Given the description of an element on the screen output the (x, y) to click on. 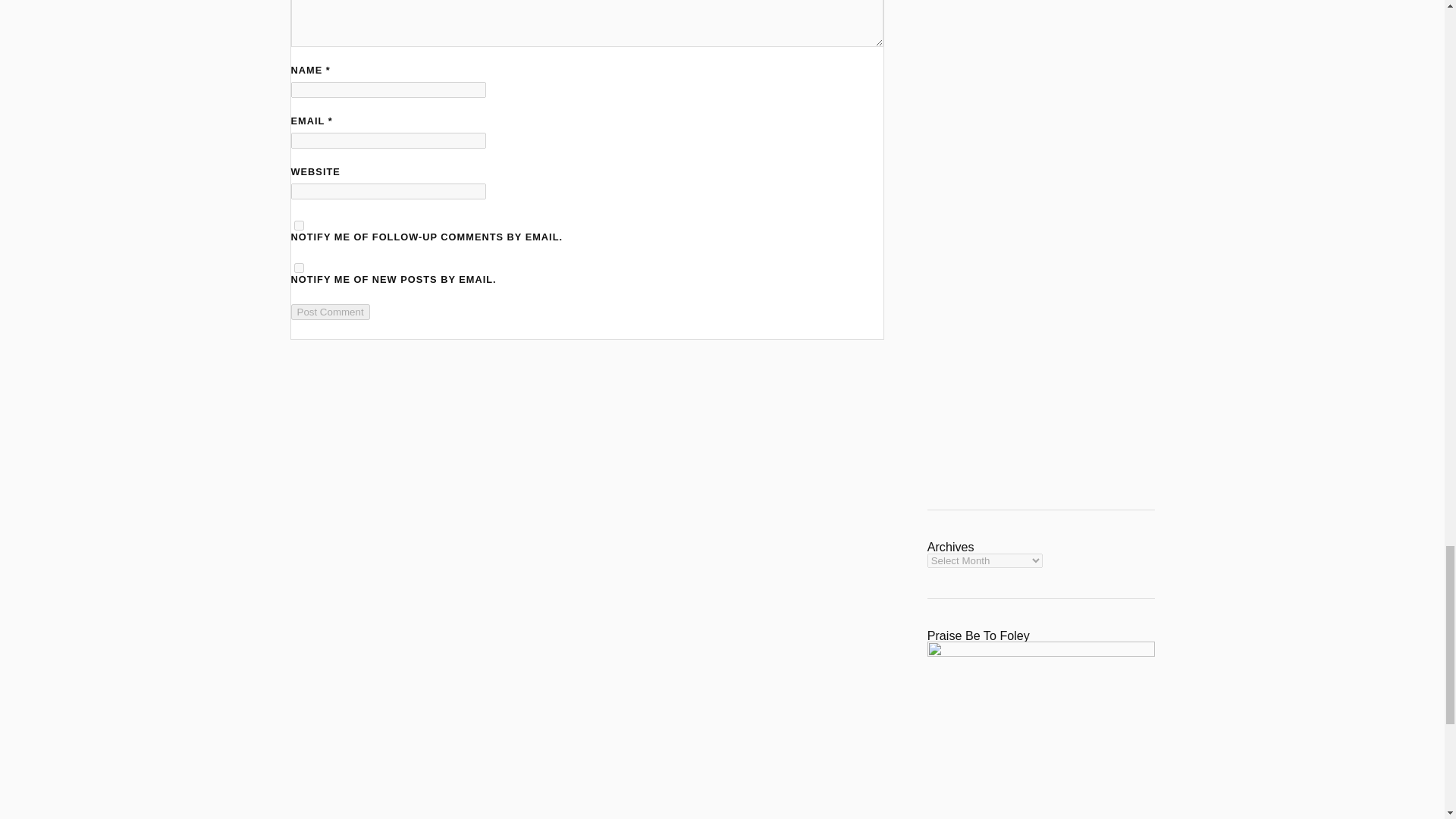
Post Comment (330, 311)
subscribe (299, 225)
subscribe (299, 267)
Post Comment (330, 311)
